Given the description of an element on the screen output the (x, y) to click on. 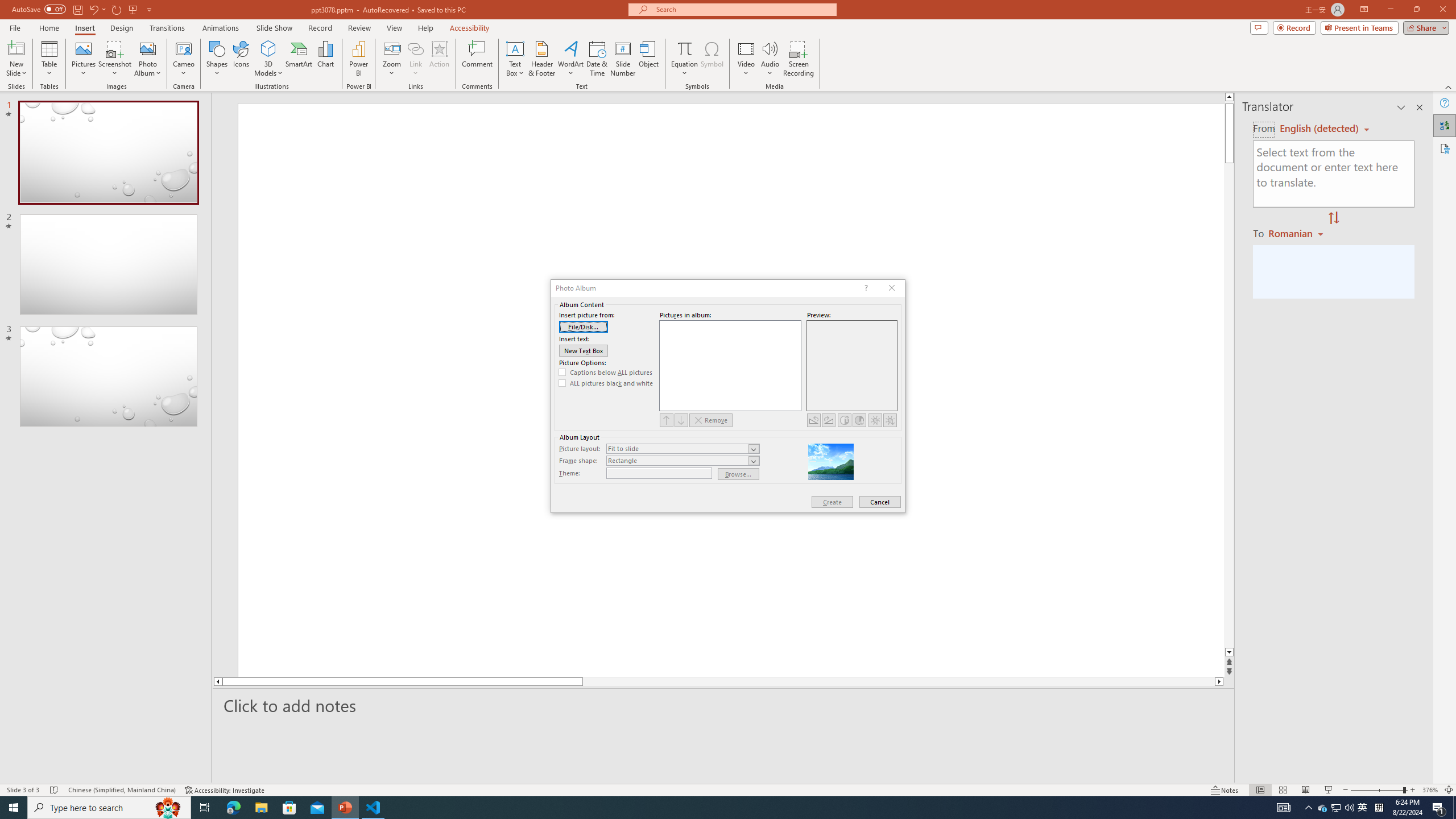
More Brightness (874, 419)
Screenshot (114, 58)
Picture layout (682, 448)
Theme (658, 473)
